Given the description of an element on the screen output the (x, y) to click on. 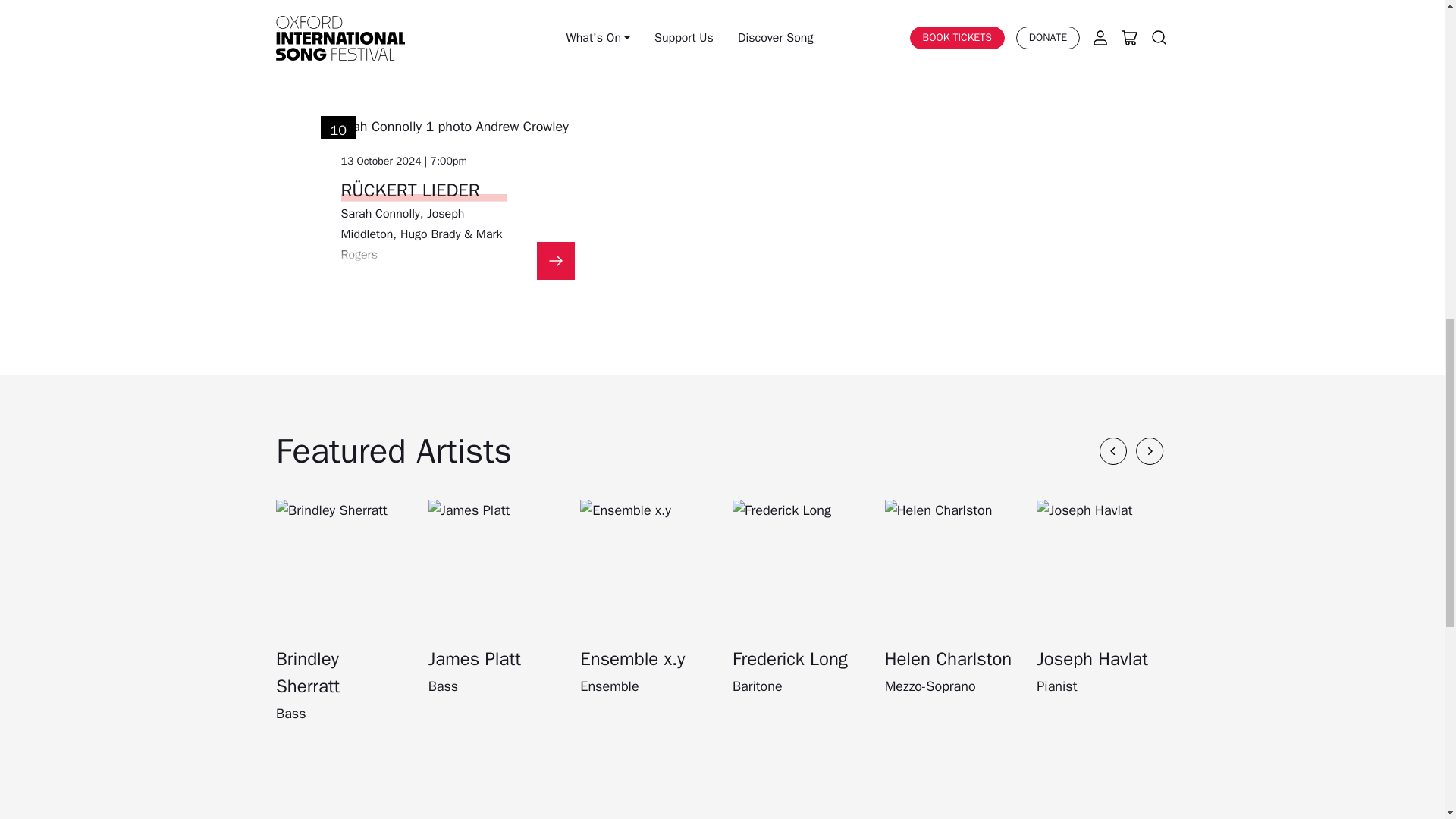
Account (703, 499)
What's On (722, 337)
Basket (740, 499)
Discover Song (721, 428)
Festival 2024 (721, 360)
Support Us (721, 405)
All Events (722, 382)
